Given the description of an element on the screen output the (x, y) to click on. 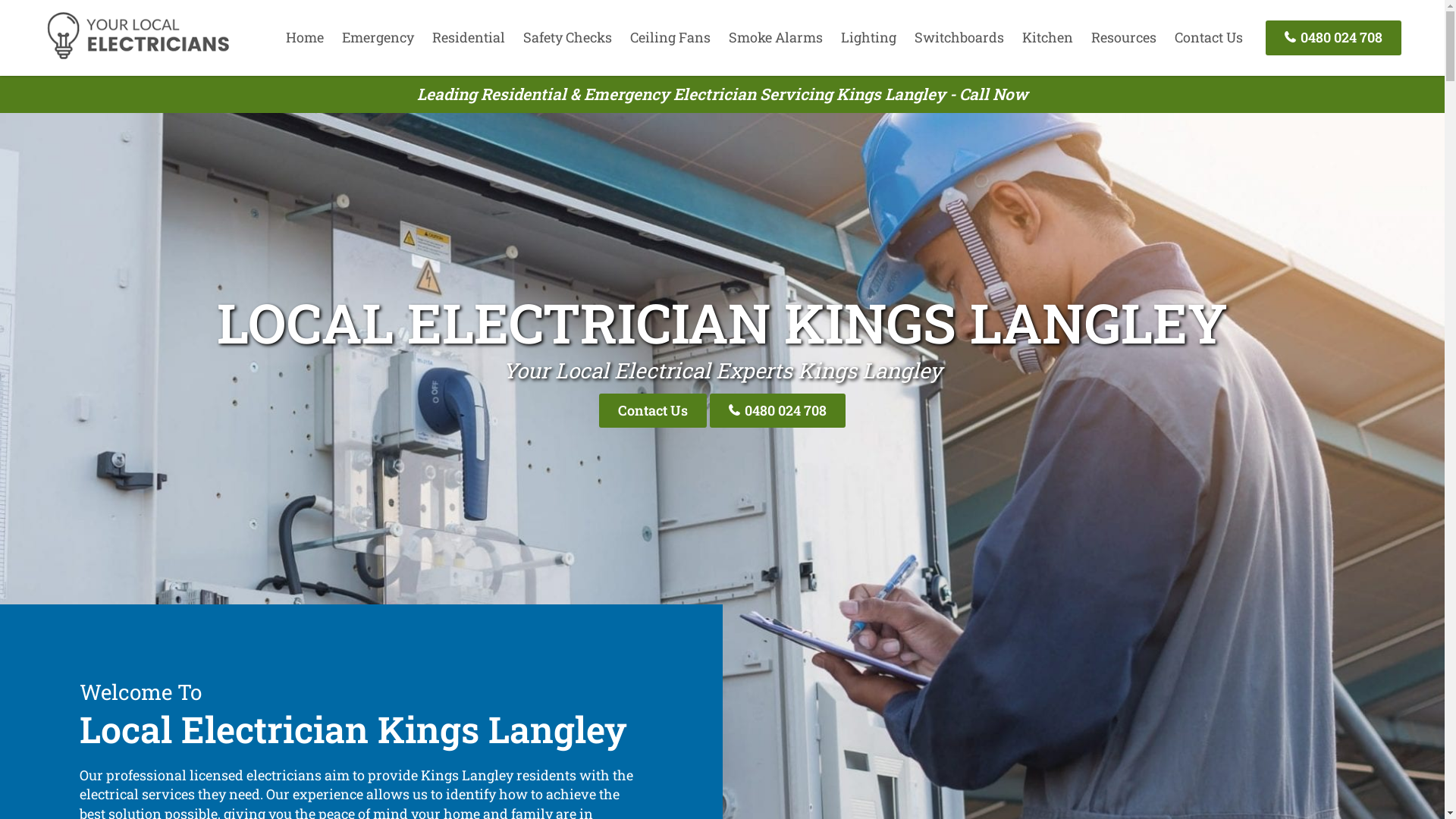
Emergency Element type: text (377, 37)
Residential Element type: text (468, 37)
0480 024 708 Element type: text (1333, 37)
Contact Us Element type: text (652, 410)
0480 024 708 Element type: text (777, 410)
Switchboards Element type: text (958, 37)
Kitchen Element type: text (1047, 37)
Smoke Alarms Element type: text (775, 37)
Resources Element type: text (1123, 37)
Home Element type: text (304, 37)
Safety Checks Element type: text (567, 37)
Lighting Element type: text (868, 37)
Contact Us Element type: text (1208, 37)
Ceiling Fans Element type: text (670, 37)
Electricians Element type: hover (137, 56)
